Given the description of an element on the screen output the (x, y) to click on. 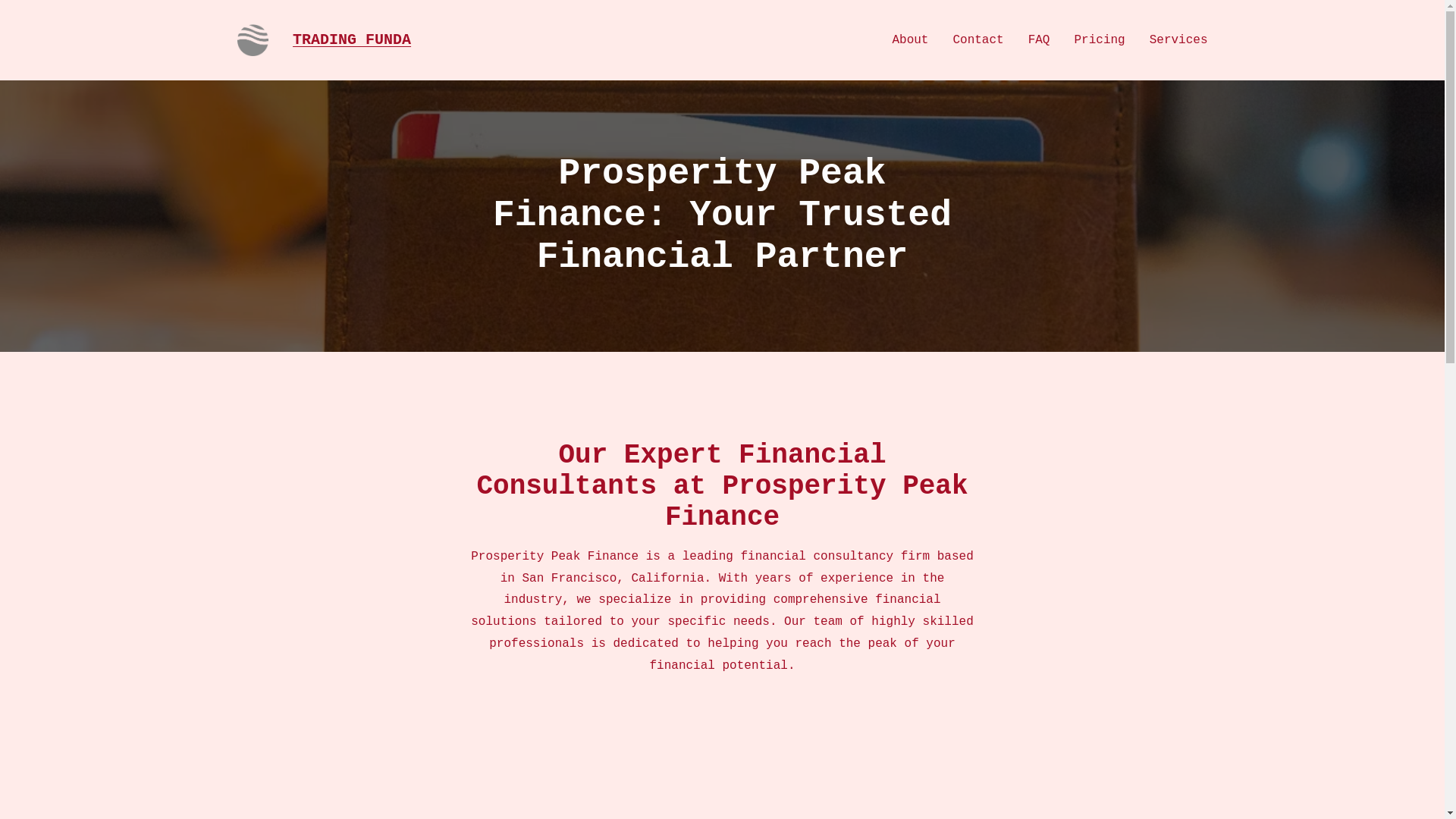
Pricing (1099, 40)
FAQ (1038, 40)
TRADING FUNDA (351, 39)
About (909, 40)
Services (1179, 40)
Contact (977, 40)
